Given the description of an element on the screen output the (x, y) to click on. 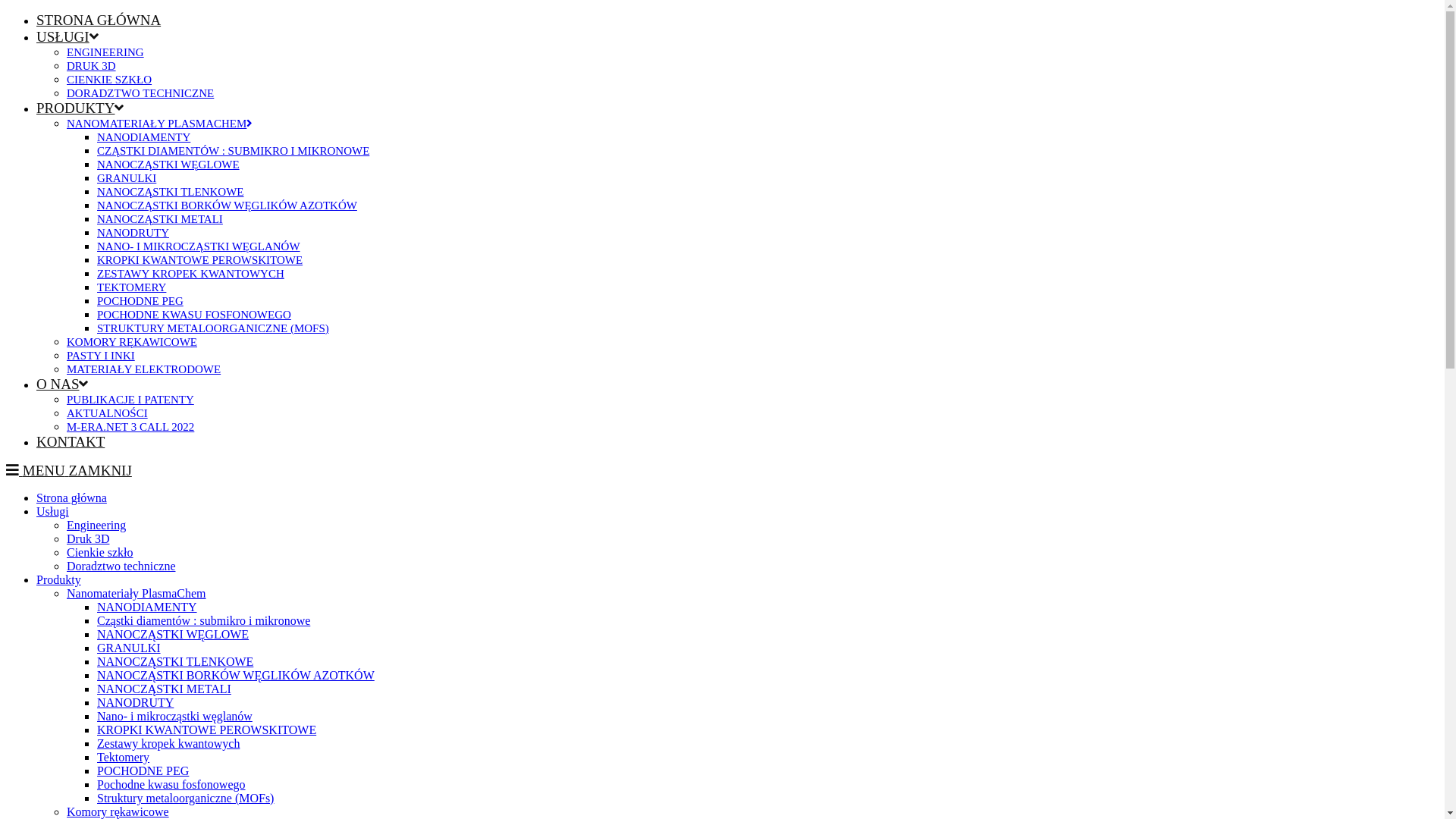
NANODIAMENTY Element type: text (147, 606)
Struktury metaloorganiczne (MOFs) Element type: text (185, 797)
STRUKTURY METALOORGANICZNE (MOFS) Element type: text (213, 328)
MENU ZAMKNIJ Element type: text (68, 470)
NANODRUTY Element type: text (135, 702)
Engineering Element type: text (95, 524)
NANODRUTY Element type: text (133, 232)
Zestawy kropek kwantowych Element type: text (168, 743)
POCHODNE PEG Element type: text (142, 770)
Produkty Element type: text (58, 579)
O NAS Element type: text (61, 384)
ENGINEERING Element type: text (105, 52)
POCHODNE PEG Element type: text (140, 300)
TEKTOMERY Element type: text (131, 287)
Doradztwo techniczne Element type: text (120, 565)
PRODUKTY Element type: text (79, 108)
KROPKI KWANTOWE PEROWSKITOWE Element type: text (206, 729)
KROPKI KWANTOWE PEROWSKITOWE Element type: text (199, 260)
DORADZTWO TECHNICZNE Element type: text (139, 93)
Tektomery Element type: text (123, 756)
POCHODNE KWASU FOSFONOWEGO Element type: text (194, 314)
NANODIAMENTY Element type: text (143, 137)
GRANULKI Element type: text (126, 178)
DRUK 3D Element type: text (91, 65)
PUBLIKACJE I PATENTY Element type: text (130, 399)
ZESTAWY KROPEK KWANTOWYCH Element type: text (190, 273)
Pochodne kwasu fosfonowego Element type: text (171, 784)
PASTY I INKI Element type: text (100, 355)
Skip to content Element type: text (5, 11)
KONTAKT Element type: text (70, 441)
M-ERA.NET 3 CALL 2022 Element type: text (130, 426)
GRANULKI Element type: text (128, 647)
Druk 3D Element type: text (87, 538)
